Given the description of an element on the screen output the (x, y) to click on. 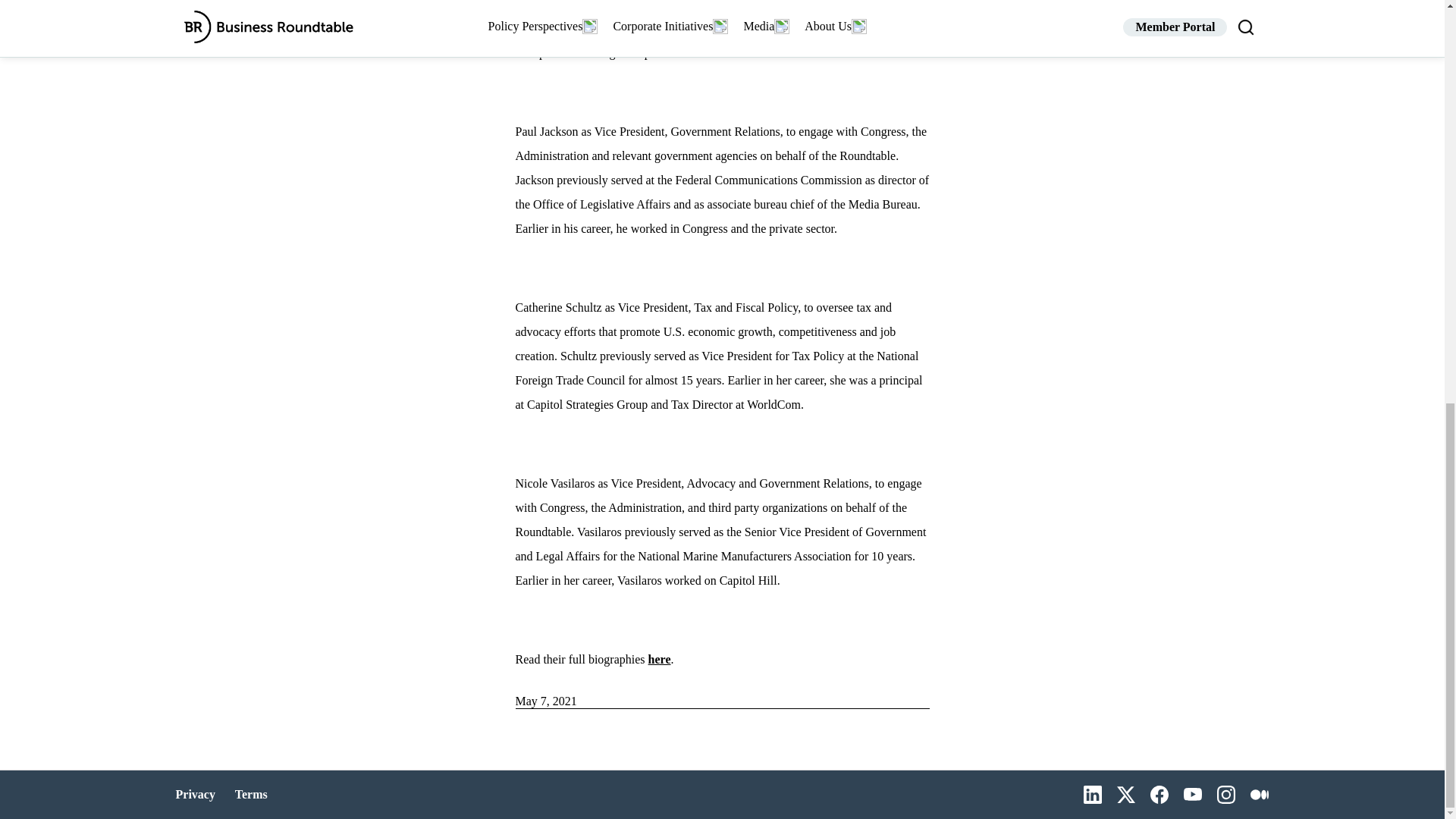
Privacy  (197, 794)
here (659, 658)
Terms (250, 794)
